Given the description of an element on the screen output the (x, y) to click on. 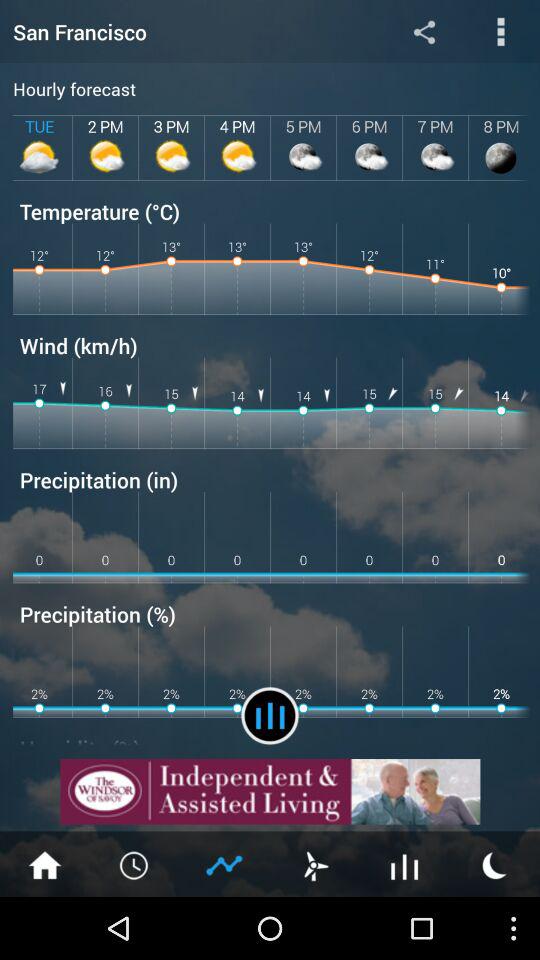
menu page (500, 31)
